Given the description of an element on the screen output the (x, y) to click on. 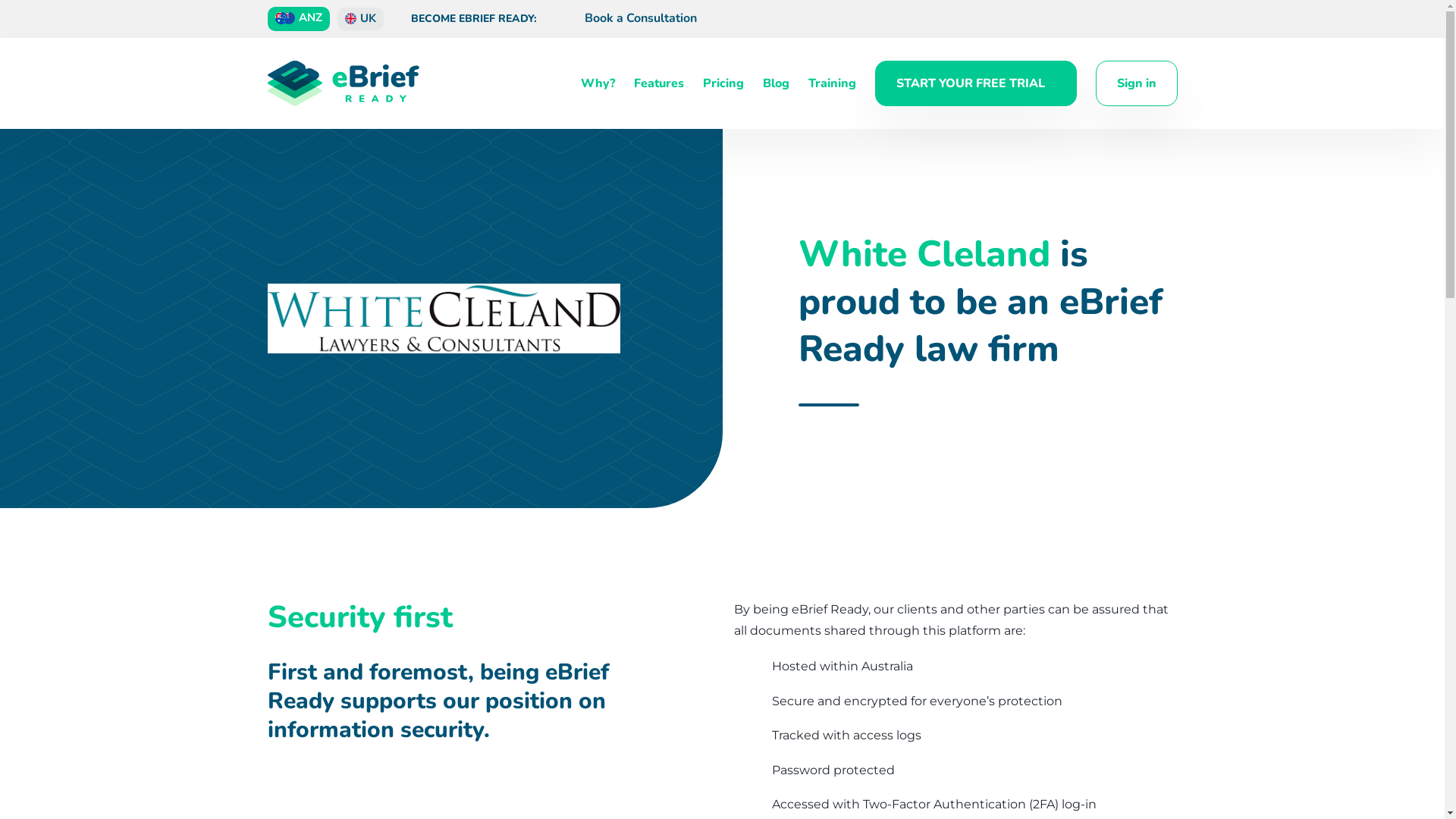
UK Element type: text (359, 18)
Sign in Element type: text (1135, 83)
Why? Element type: text (597, 83)
eBrief-CountryFlag-ANZ
ANZ Element type: text (297, 18)
START YOUR FREE TRIAL Element type: text (975, 83)
Training Element type: text (832, 83)
Book a Consultation Element type: text (624, 18)
Blog Element type: text (775, 83)
Pricing Element type: text (722, 83)
Features Element type: text (658, 83)
